Given the description of an element on the screen output the (x, y) to click on. 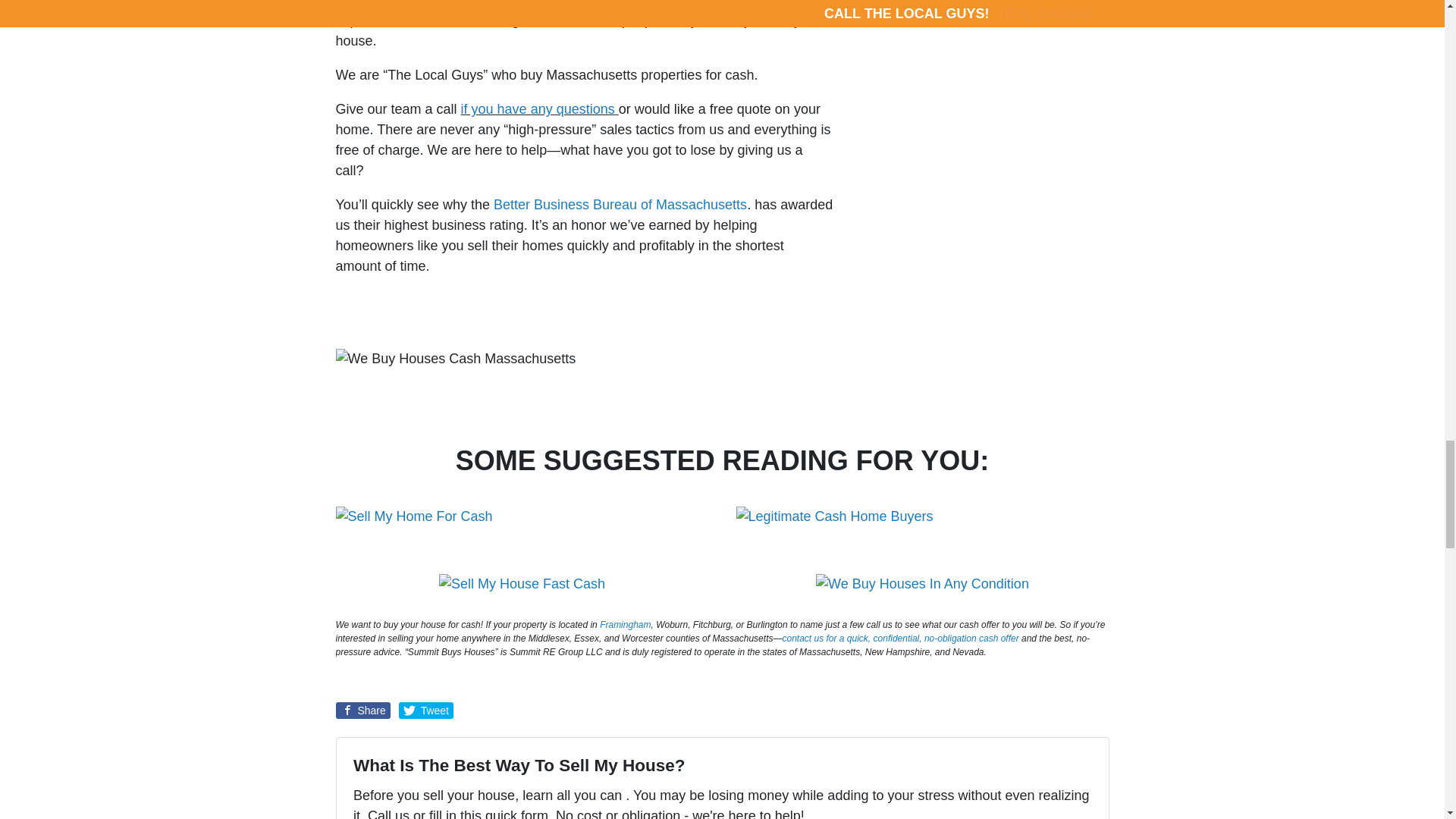
if you have any questions (537, 109)
Tweet (425, 710)
Share on Facebook (362, 710)
Better Business Bureau of Massachusetts (617, 204)
Share on Twitter (425, 710)
Share (362, 710)
long list of satisfied clients (595, 3)
Framingham (624, 624)
